Given the description of an element on the screen output the (x, y) to click on. 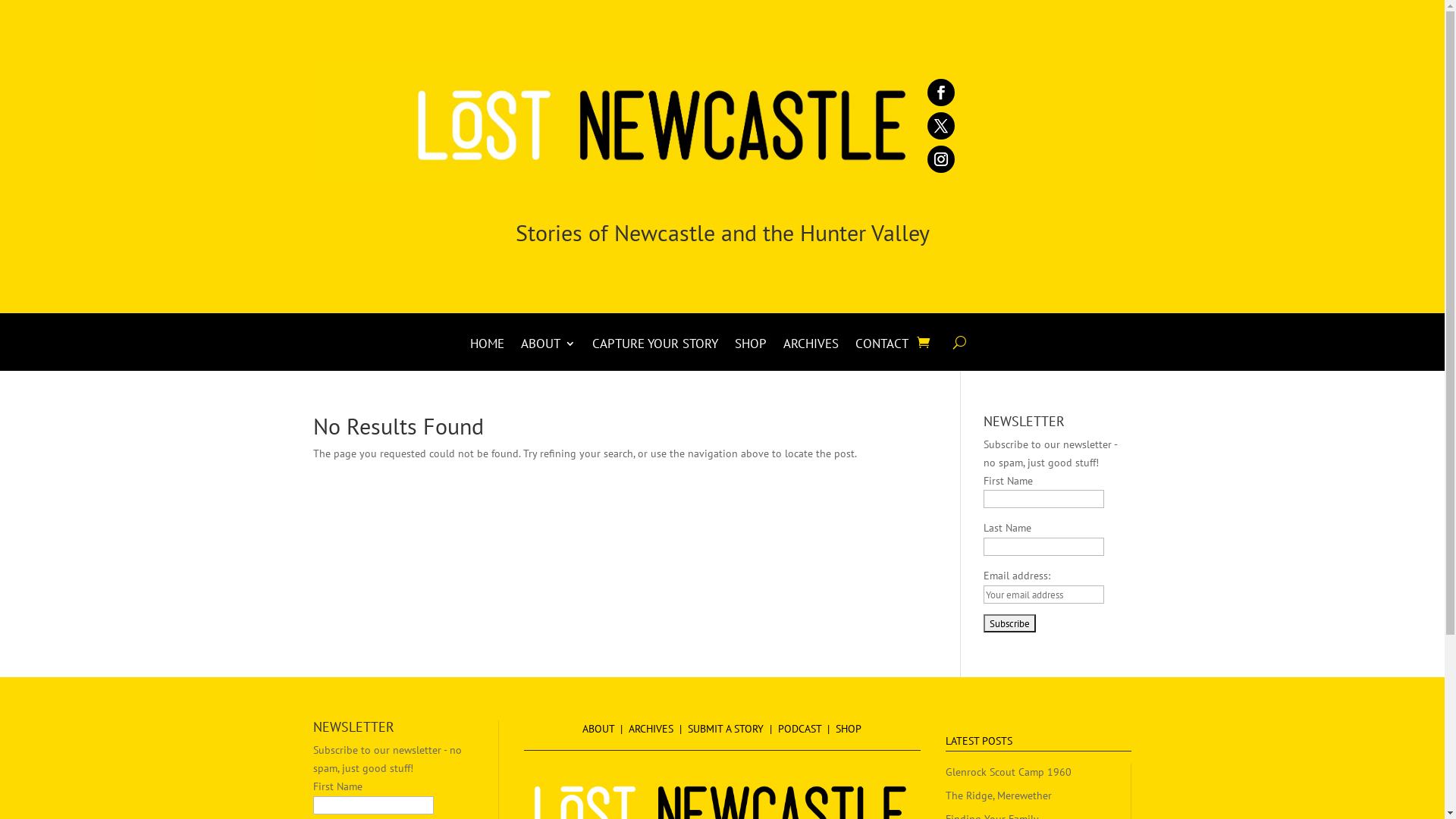
The Ridge, Merewether Element type: text (998, 795)
ARCHIVES Element type: text (650, 728)
Lost Newcastle Element type: hover (611, 120)
Follow on Facebook Element type: hover (939, 92)
ABOUT Element type: text (598, 728)
ARCHIVES Element type: text (810, 354)
PODCAST Element type: text (799, 728)
SHOP Element type: text (750, 354)
ABOUT Element type: text (547, 354)
Follow on X Element type: hover (939, 125)
Glenrock Scout Camp 1960 Element type: text (1008, 771)
Follow on Instagram Element type: hover (939, 158)
Subscribe Element type: text (1009, 623)
HOME Element type: text (487, 354)
SUBMIT A STORY Element type: text (725, 728)
CONTACT Element type: text (881, 354)
SHOP Element type: text (848, 728)
CAPTURE YOUR STORY Element type: text (655, 354)
